Given the description of an element on the screen output the (x, y) to click on. 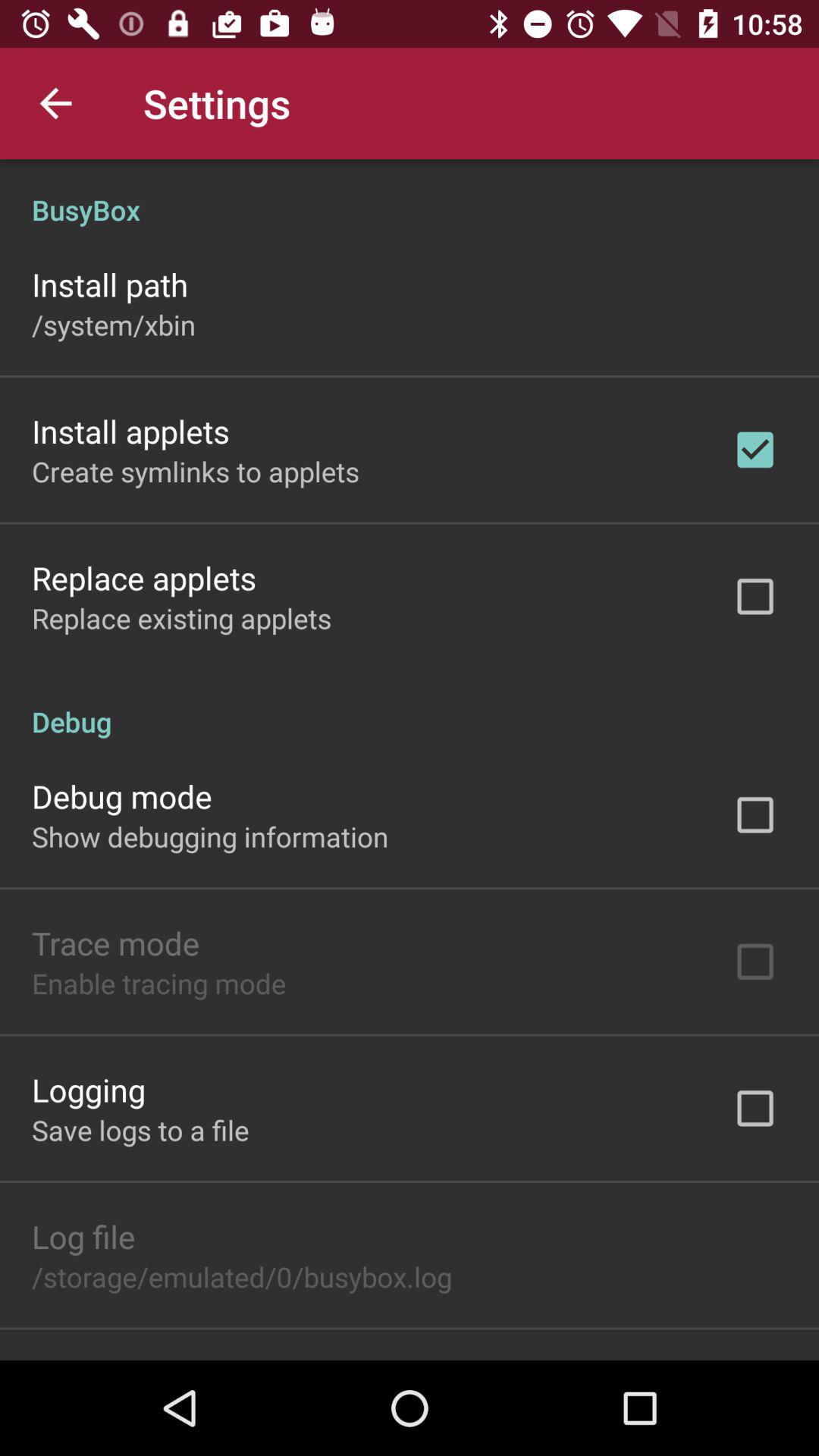
flip until the debug mode (121, 795)
